Given the description of an element on the screen output the (x, y) to click on. 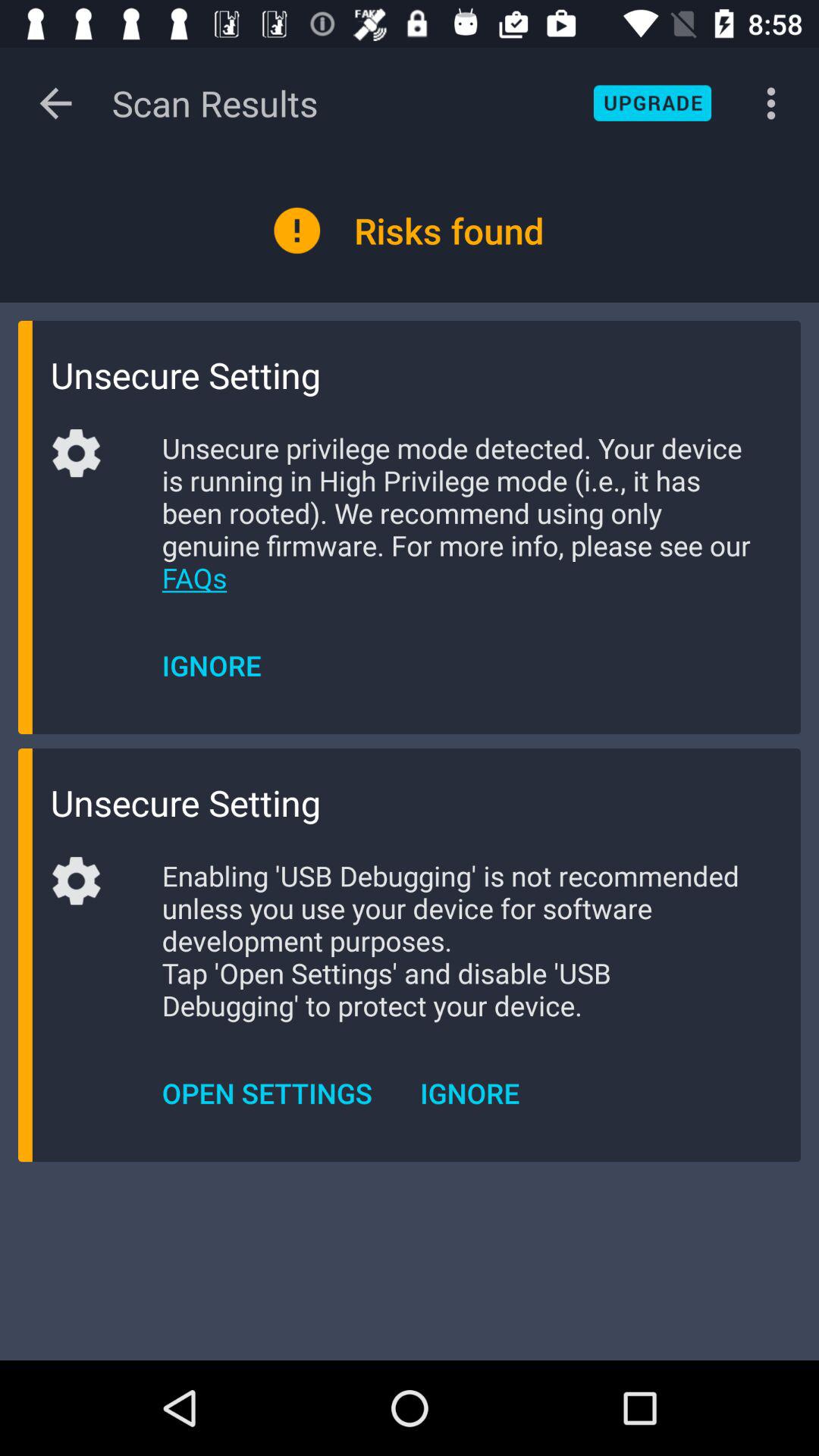
choose item above ignore icon (458, 512)
